Given the description of an element on the screen output the (x, y) to click on. 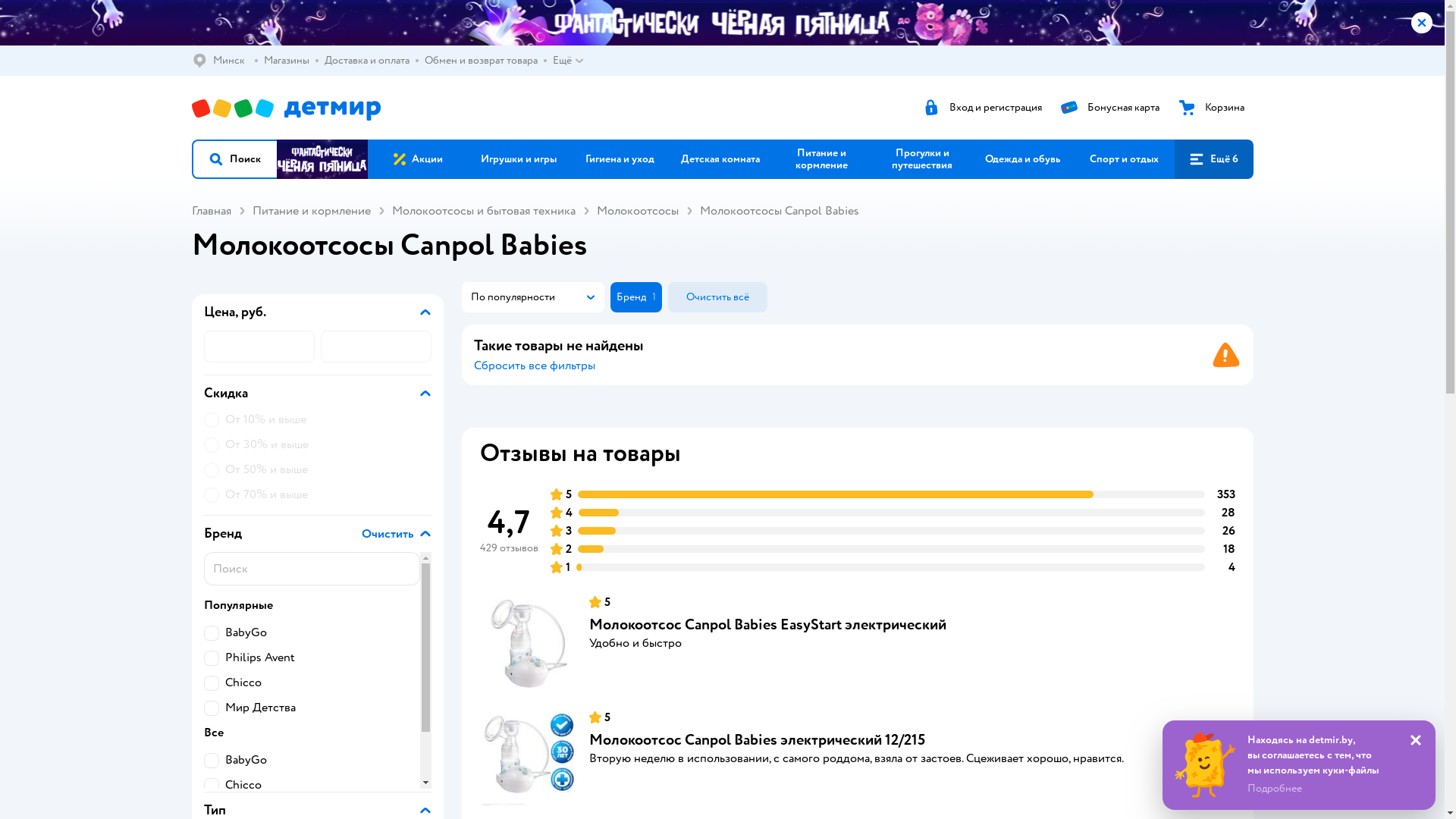
Philips Avent Element type: text (311, 657)
Chicco Element type: text (311, 682)
4
28 Element type: text (892, 512)
Chicco Element type: text (311, 785)
1
4 Element type: text (892, 566)
BabyGo Element type: text (311, 760)
2
18 Element type: text (892, 548)
5
353 Element type: text (892, 494)
BabyGo Element type: text (311, 632)
3
26 Element type: text (892, 530)
Philips Avent Element type: text (311, 810)
